Given the description of an element on the screen output the (x, y) to click on. 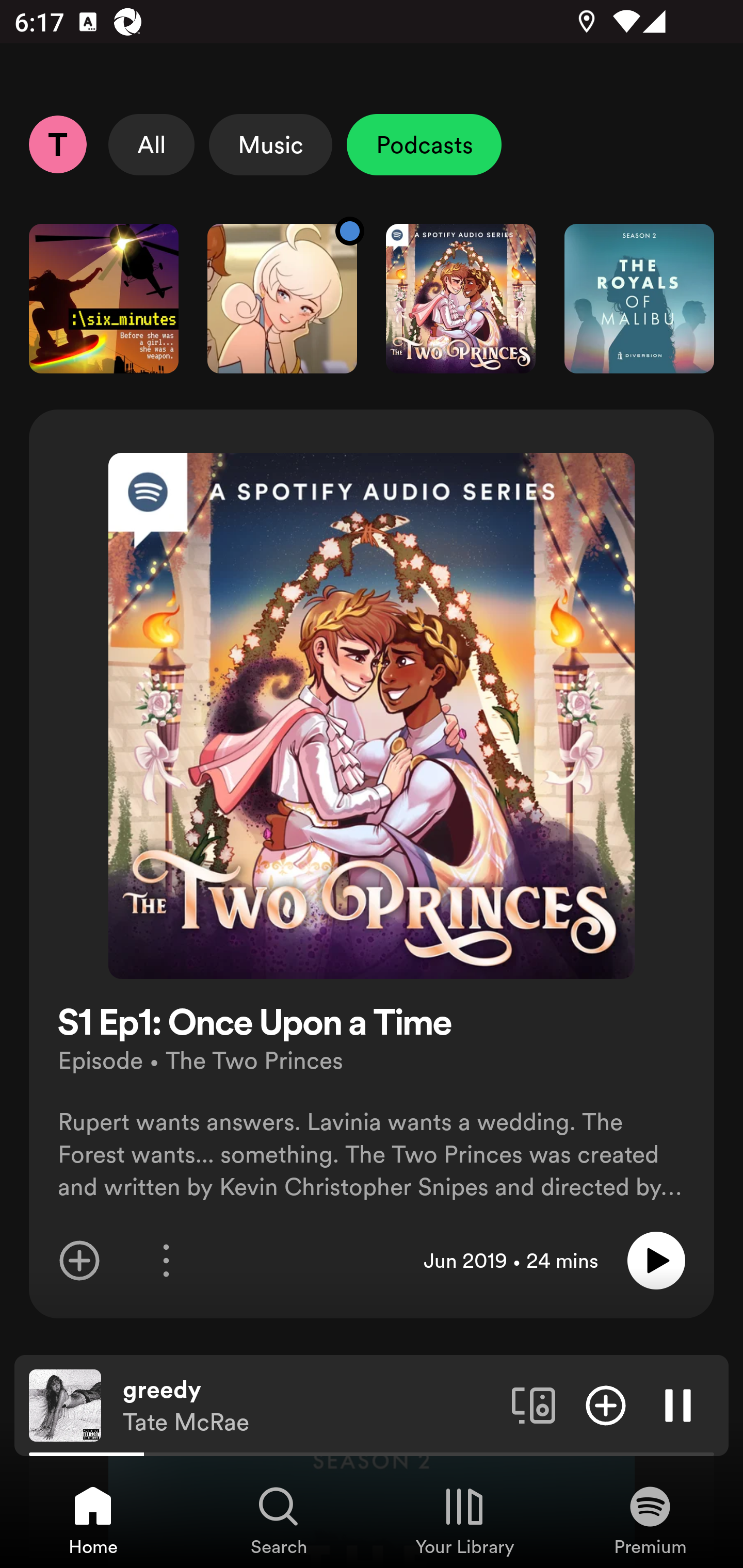
Profile (57, 144)
All Select All (151, 144)
Music Select Music (270, 144)
Podcasts Unselect Podcasts (423, 144)
Six Minutes (103, 298)
MSA  New content (281, 298)
The Two Princes (460, 298)
The Royals of Malibu (639, 298)
Add item (79, 1260)
Play (655, 1260)
greedy Tate McRae (309, 1405)
The cover art of the currently playing track (64, 1404)
Connect to a device. Opens the devices menu (533, 1404)
Add item (605, 1404)
Pause (677, 1404)
Home, Tab 1 of 4 Home Home (92, 1519)
Search, Tab 2 of 4 Search Search (278, 1519)
Your Library, Tab 3 of 4 Your Library Your Library (464, 1519)
Premium, Tab 4 of 4 Premium Premium (650, 1519)
